Given the description of an element on the screen output the (x, y) to click on. 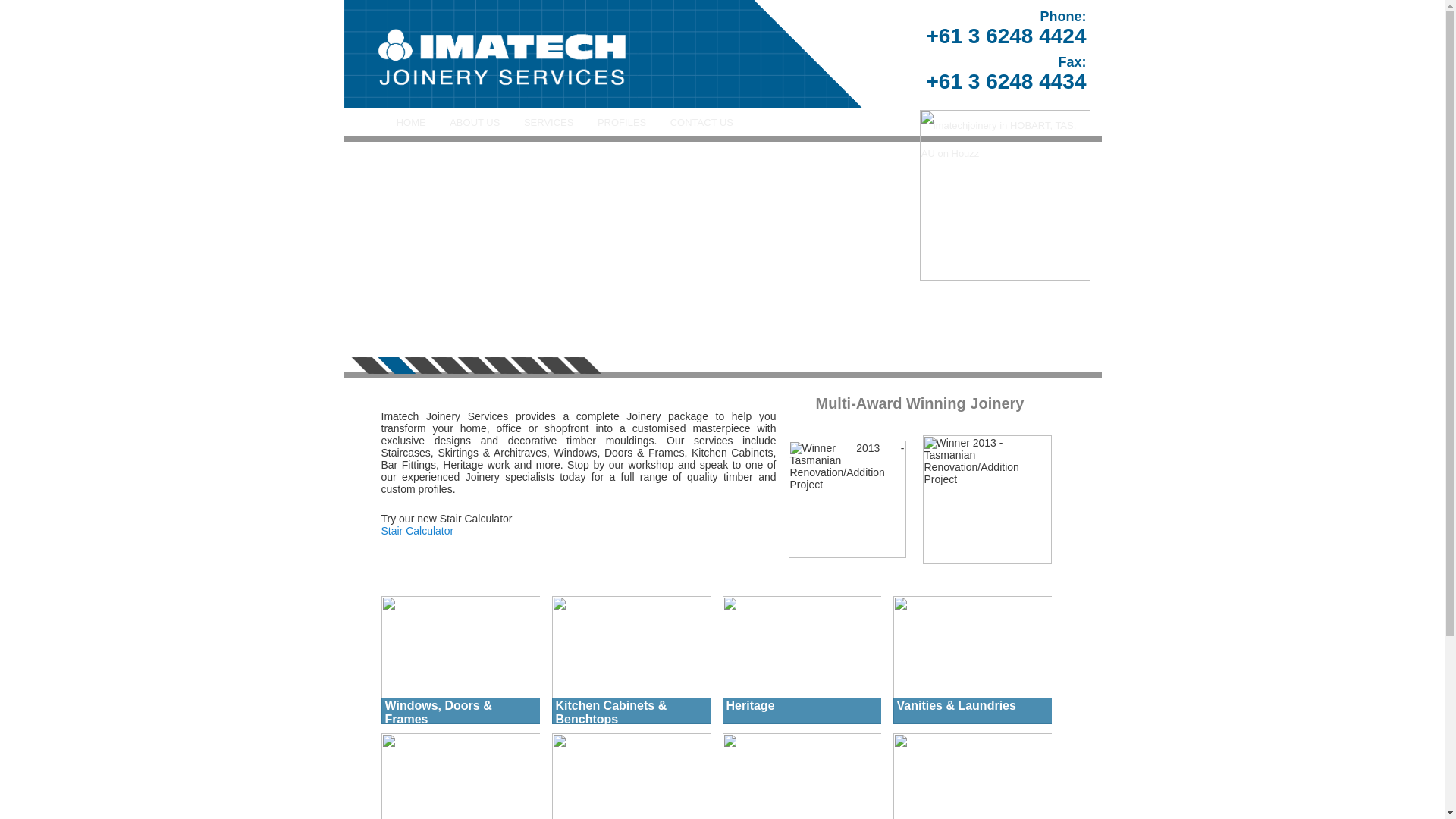
9 Element type: text (581, 365)
Winner 2013 - Tasmanian Renovation/Addition Project Element type: hover (847, 499)
7 Element type: text (528, 365)
SERVICES Element type: text (548, 122)
4 Element type: text (449, 365)
Windows, Doors & Frames Element type: hover (459, 660)
6 Element type: text (502, 365)
CONTACT US Element type: text (701, 122)
Skip to primary content Element type: text (464, 122)
Winner 2013 - Tasmanian Renovation/Addition Project Element type: hover (986, 499)
Heritage Element type: hover (801, 660)
8 Element type: text (555, 365)
5 Element type: text (475, 365)
ABOUT US Element type: text (474, 122)
3 Element type: text (422, 365)
Imatech Joinery Services Element type: hover (607, 53)
2 Element type: text (396, 365)
Stair Calculator Element type: text (416, 530)
Kitchen Cabinets & Benchtops Element type: hover (631, 660)
Skip to secondary content Element type: text (471, 122)
imatechjoinery Innovative Industrial Solutions Element type: hover (607, 97)
HOME Element type: text (411, 122)
Vanities & Laundries Element type: hover (972, 660)
1 Element type: text (369, 365)
PROFILES Element type: text (621, 122)
